Given the description of an element on the screen output the (x, y) to click on. 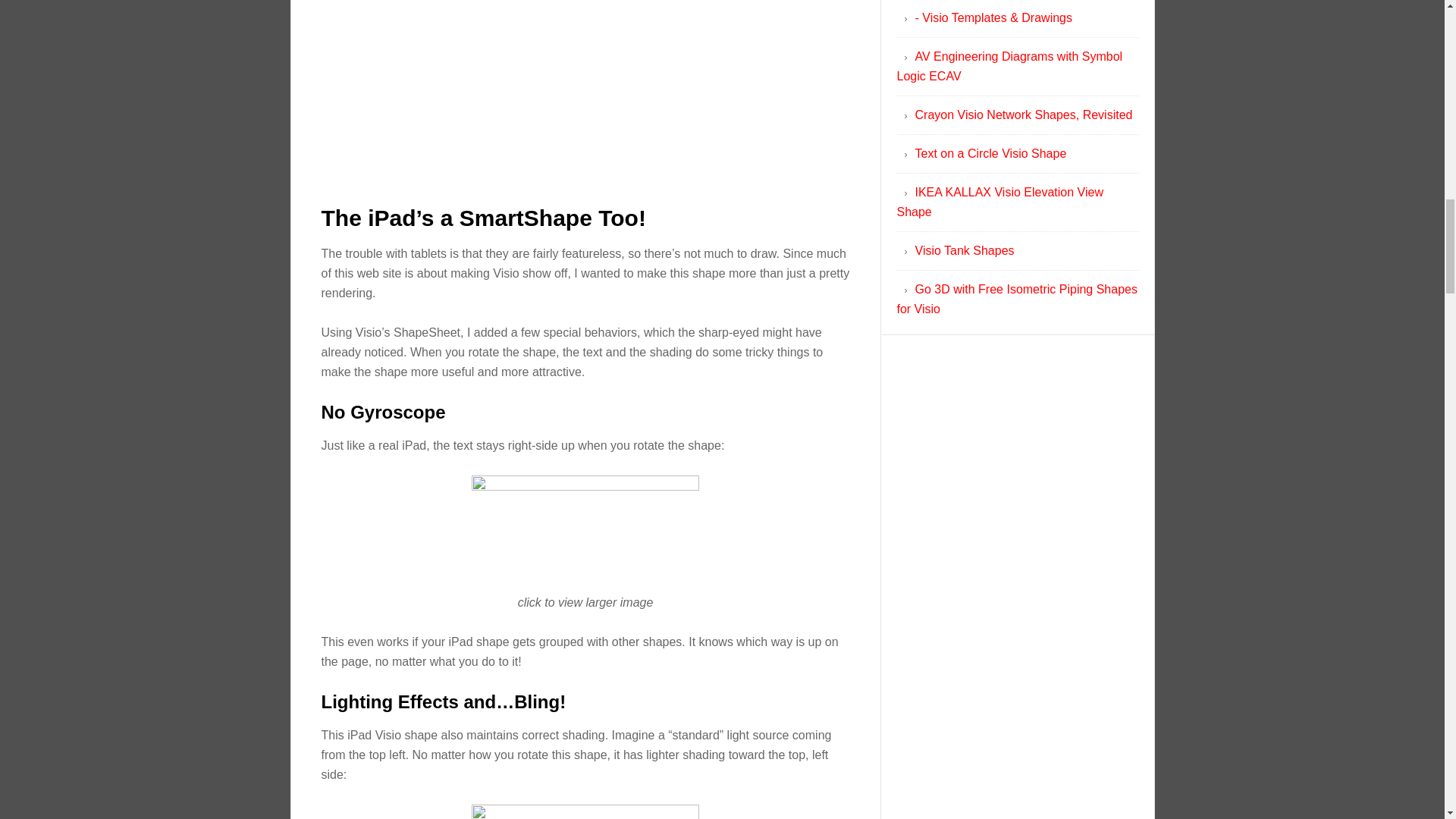
ipad-visio-shape-notes (585, 92)
ipad-visio-shape-text rotation (584, 524)
ipad-visio-shape-shading (584, 811)
